Given the description of an element on the screen output the (x, y) to click on. 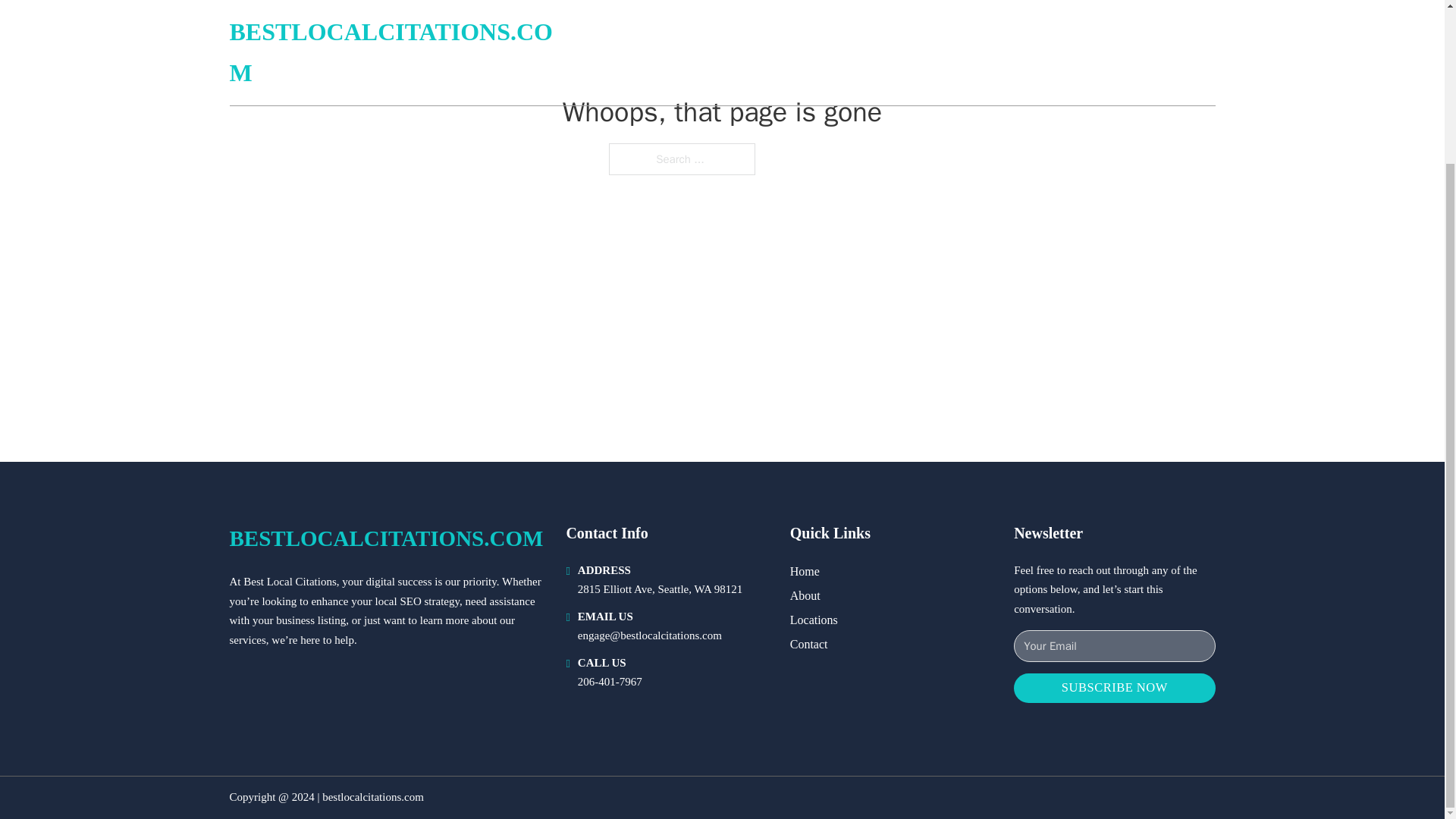
Home (804, 571)
206-401-7967 (610, 681)
Locations (814, 619)
Contact (809, 643)
About (805, 595)
SUBSCRIBE NOW (1113, 687)
BESTLOCALCITATIONS.COM (385, 538)
